Given the description of an element on the screen output the (x, y) to click on. 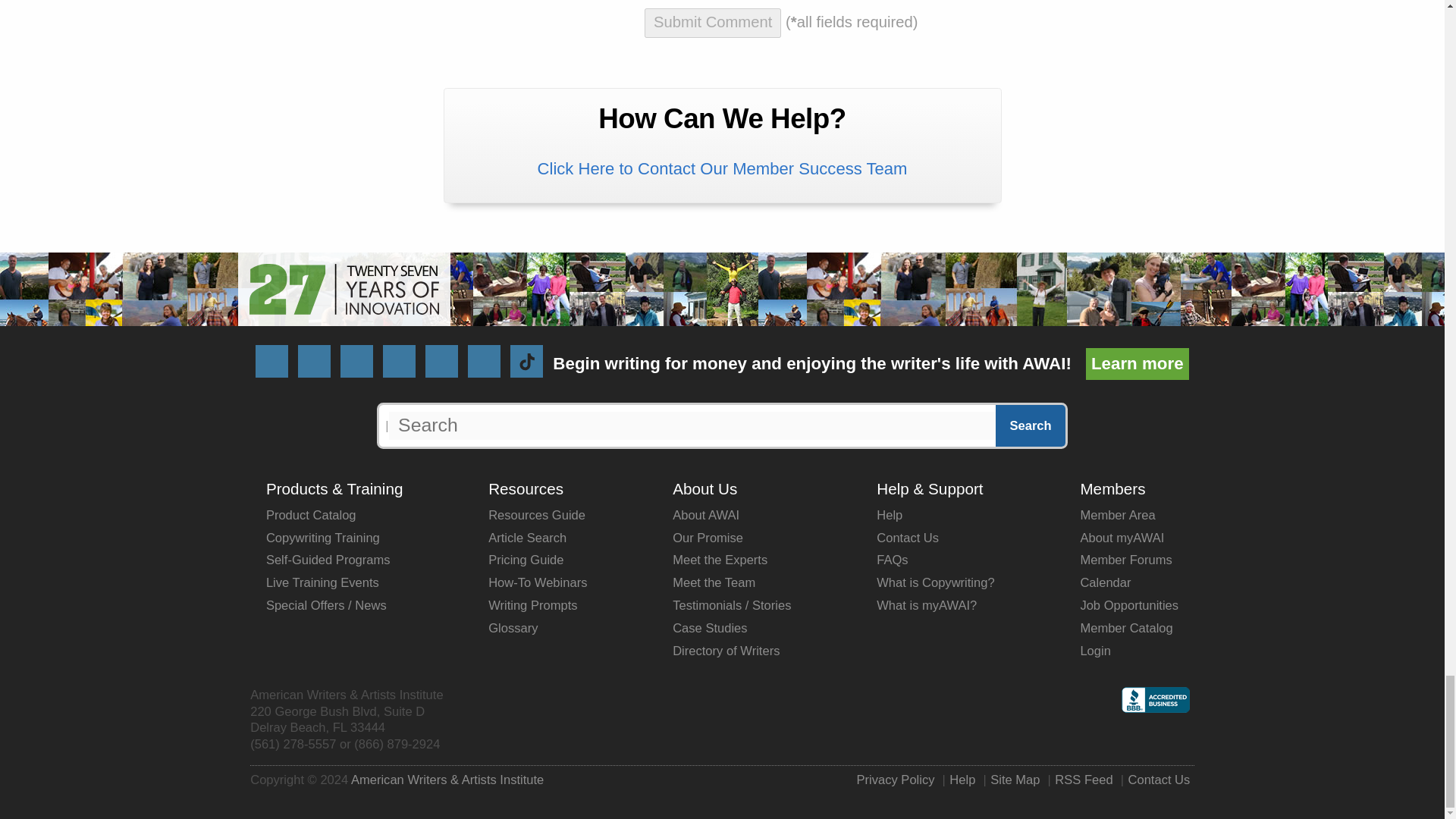
Better Business Bureau Accredited Business (1155, 699)
Better Business Bureau Accredited Business (1155, 708)
